Given the description of an element on the screen output the (x, y) to click on. 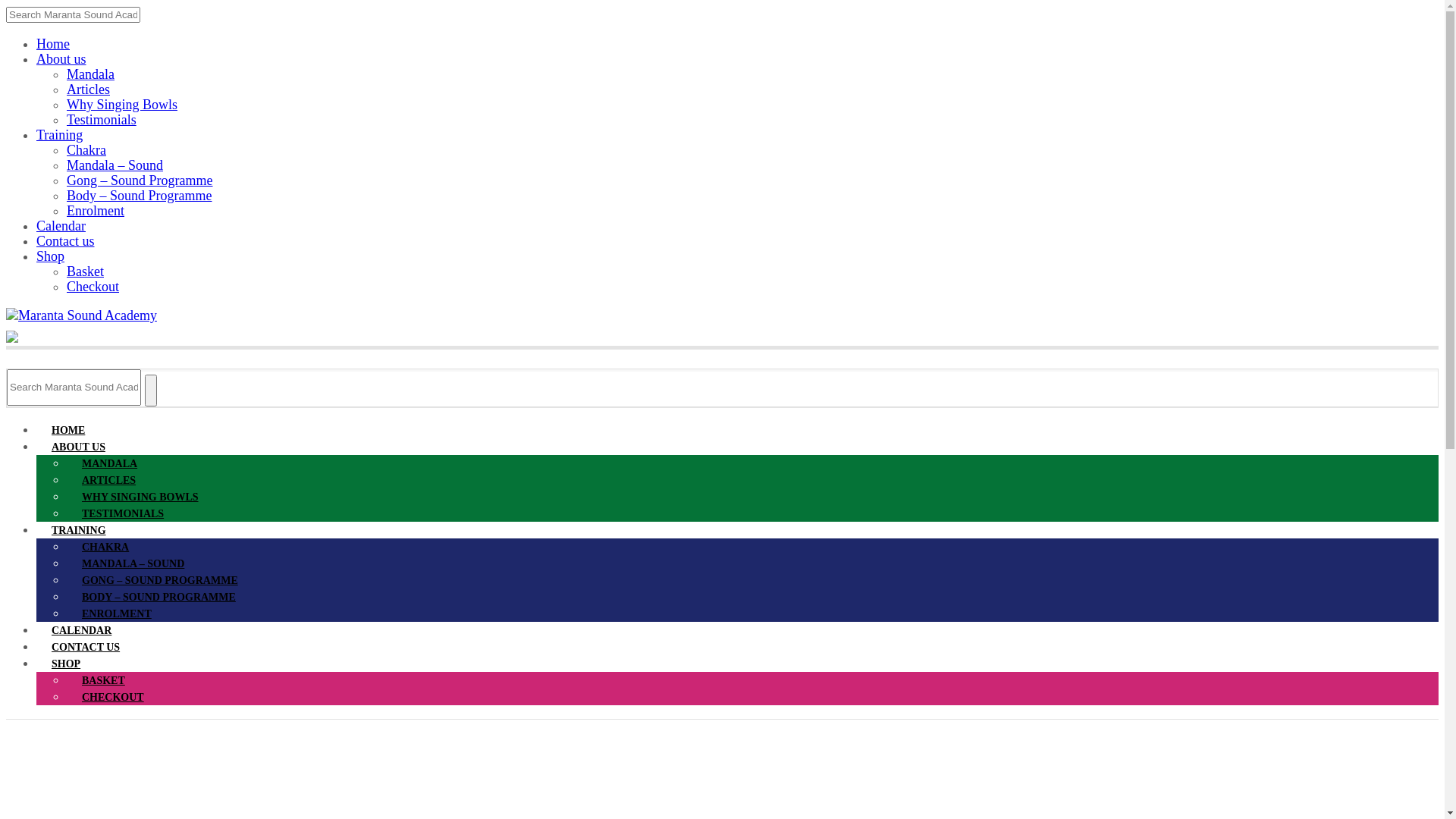
Contact us Element type: text (65, 240)
Calendar Element type: text (60, 225)
Shop Element type: text (50, 255)
Basket Element type: text (84, 271)
WHY SINGING BOWLS Element type: text (139, 496)
ARTICLES Element type: text (108, 480)
SHOP Element type: text (65, 663)
Mandala Element type: text (90, 73)
Chakra Element type: text (86, 149)
Checkout Element type: text (92, 286)
Testimonials Element type: text (101, 119)
TESTIMONIALS Element type: text (122, 513)
BASKET Element type: text (103, 680)
CONTACT US Element type: text (85, 646)
Why Singing Bowls Element type: text (121, 104)
Enrolment Element type: text (95, 210)
CHAKRA Element type: text (105, 546)
HOME Element type: text (68, 430)
MANDALA Element type: text (109, 463)
Home Element type: text (52, 43)
CHECKOUT Element type: text (112, 696)
Articles Element type: text (87, 89)
About us Element type: text (61, 58)
ABOUT US Element type: text (78, 446)
Training Element type: text (59, 134)
CALENDAR Element type: text (81, 630)
ENROLMENT Element type: text (116, 613)
TRAINING Element type: text (78, 530)
